Given the description of an element on the screen output the (x, y) to click on. 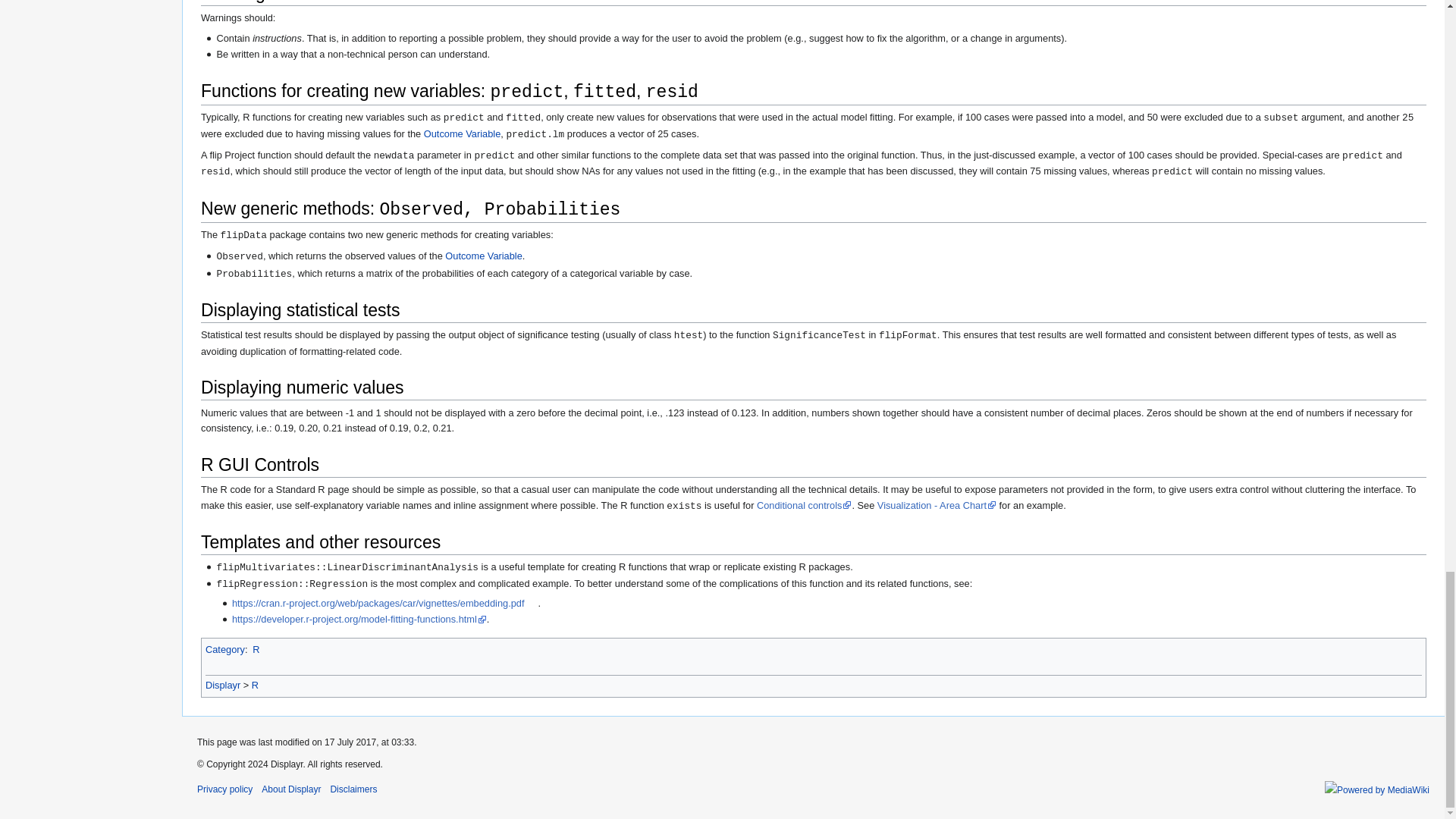
Category (224, 649)
Visualization - Area Chart (936, 504)
Outcome Variable (461, 133)
Outcome Variable (461, 133)
Outcome Variable (483, 255)
Conditional controls (804, 504)
Special:Categories (224, 649)
Outcome Variable (483, 255)
Category:Displayr (222, 685)
